Given the description of an element on the screen output the (x, y) to click on. 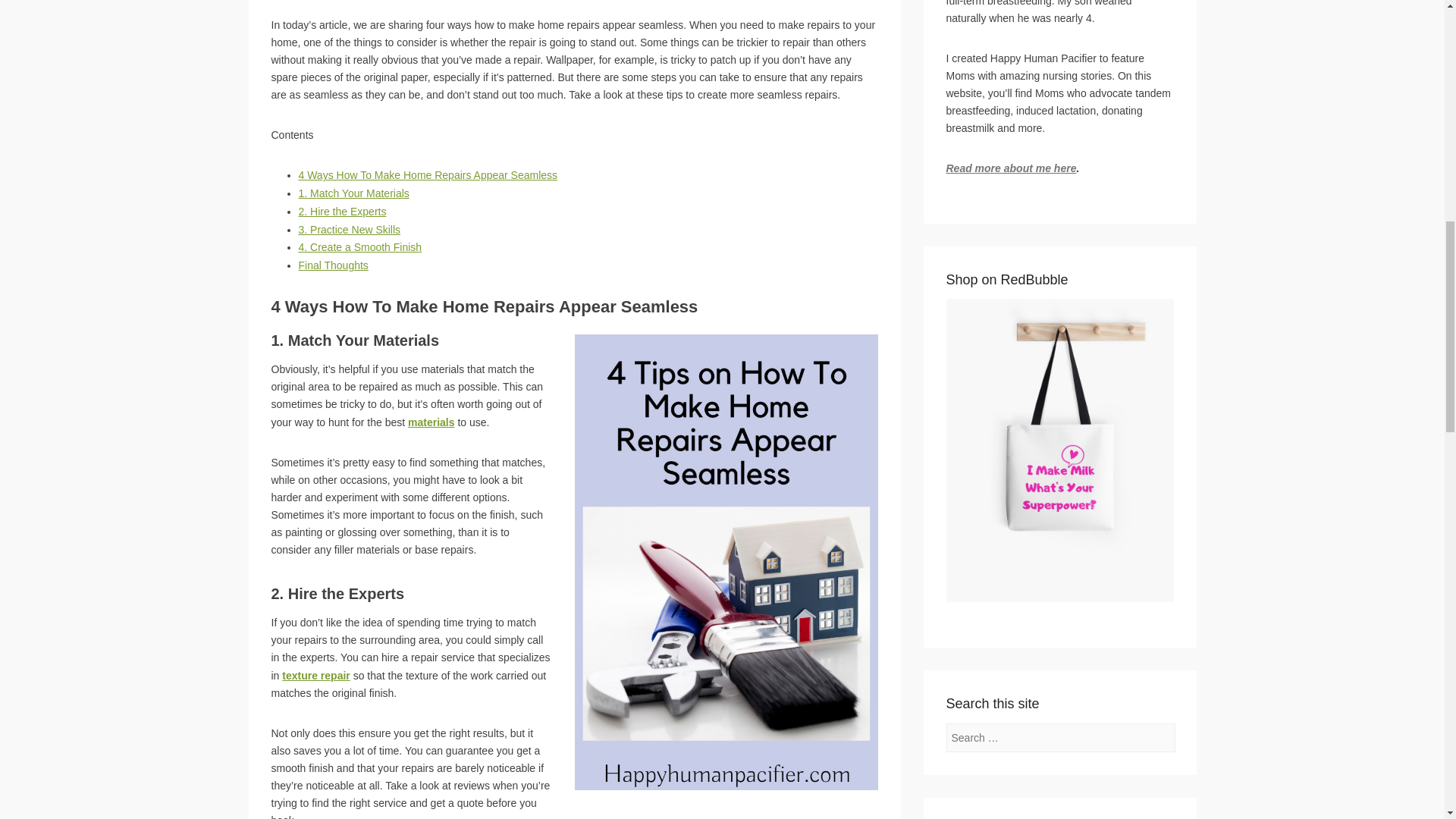
3. Practice New Skills (349, 229)
4 Ways How To Make Home Repairs Appear Seamless (427, 174)
1. Match Your Materials (353, 193)
2. Hire the Experts (342, 211)
texture repair (315, 674)
materials (430, 422)
Final Thoughts (333, 265)
4. Create a Smooth Finish (360, 246)
